Given the description of an element on the screen output the (x, y) to click on. 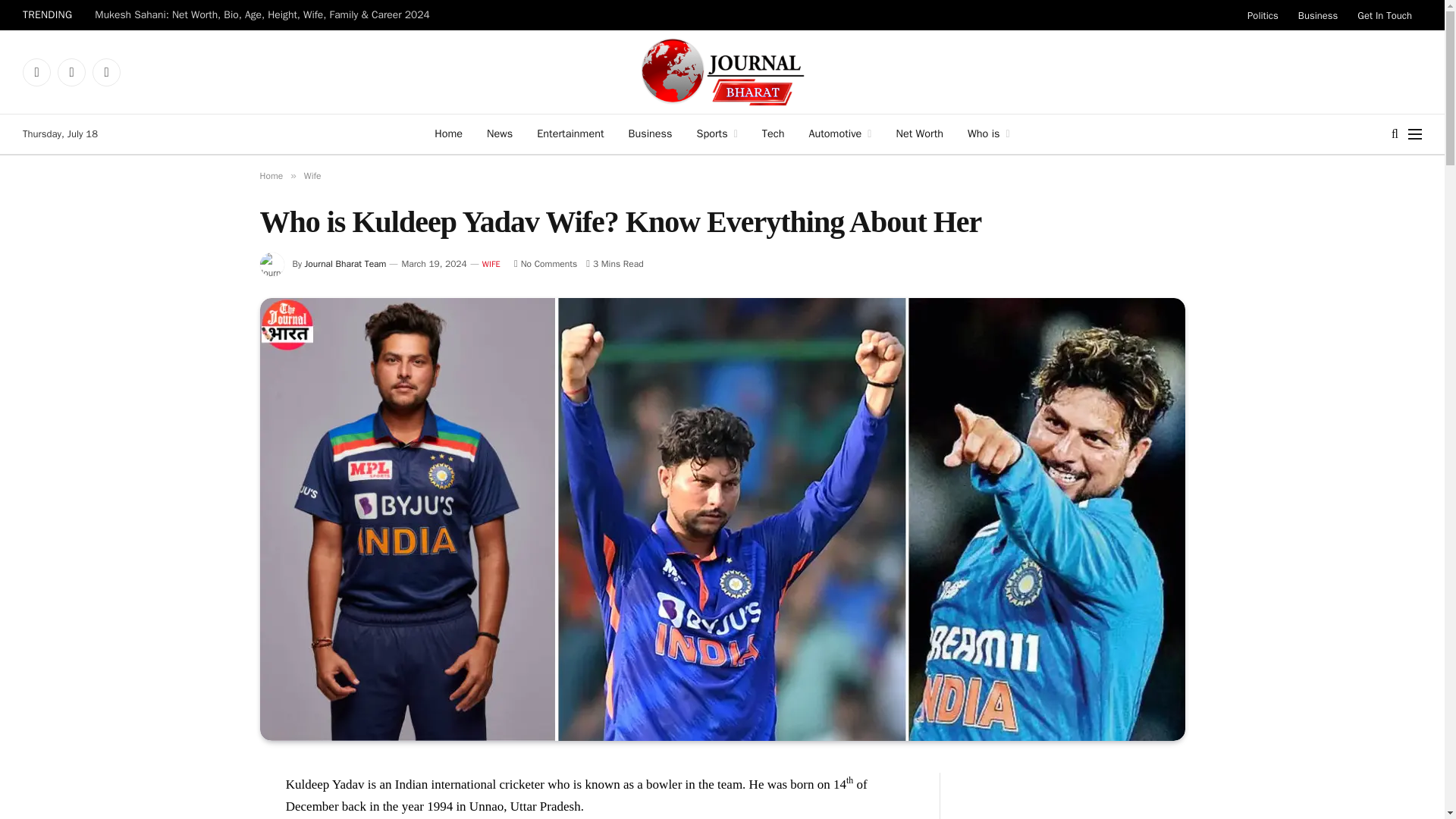
Sports (716, 133)
Business (1318, 15)
Facebook (36, 71)
News (499, 133)
Tech (772, 133)
Entertainment (569, 133)
Politics (1262, 15)
Home (448, 133)
Automotive (839, 133)
Get In Touch (1385, 15)
Business (649, 133)
The Journal Bharat (722, 71)
Instagram (106, 71)
